Given the description of an element on the screen output the (x, y) to click on. 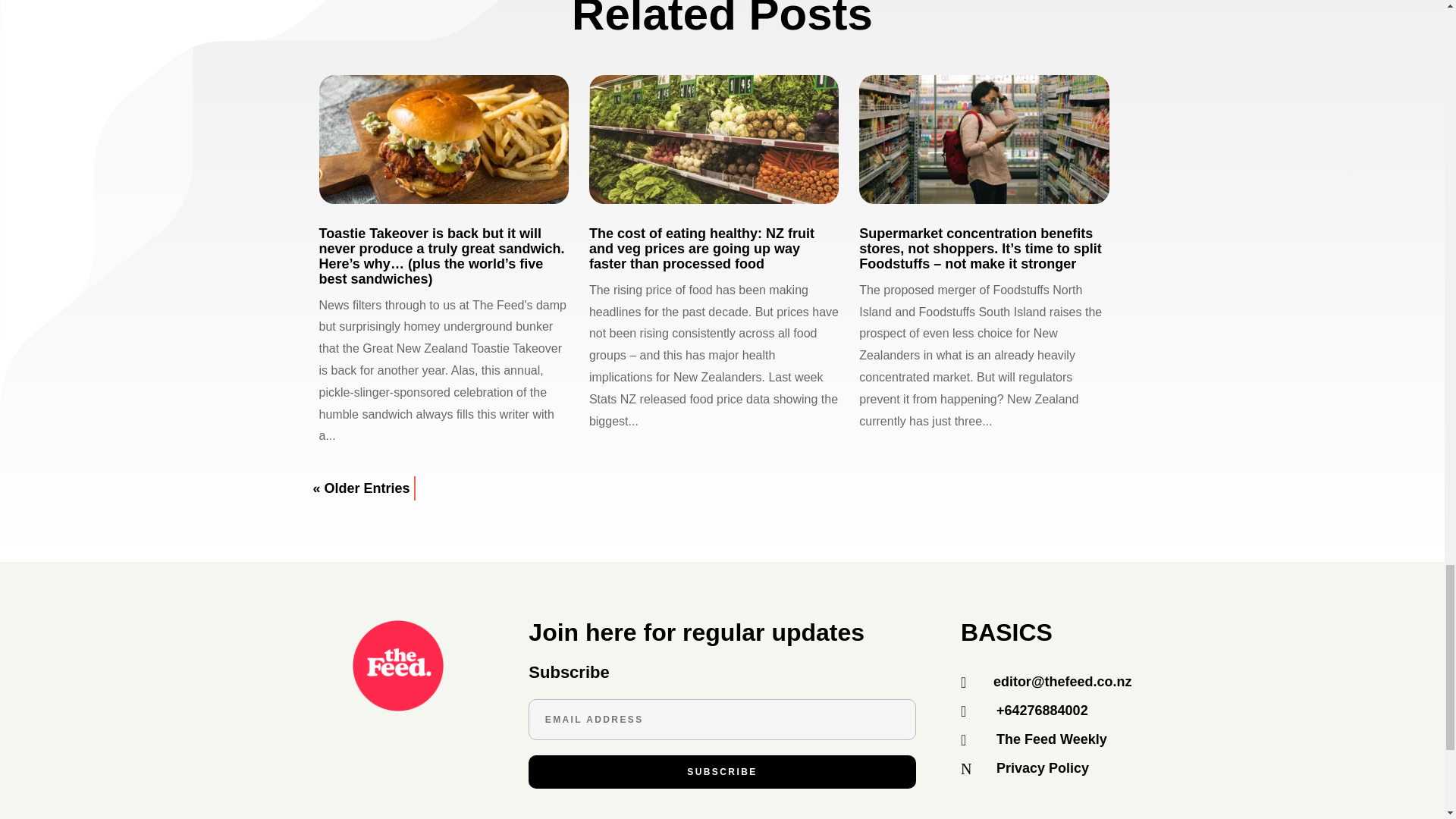
The Feed Weekly (1050, 739)
Privacy Policy (1042, 767)
Subscribe (721, 771)
N (972, 768)
Subscribe (721, 771)
